Given the description of an element on the screen output the (x, y) to click on. 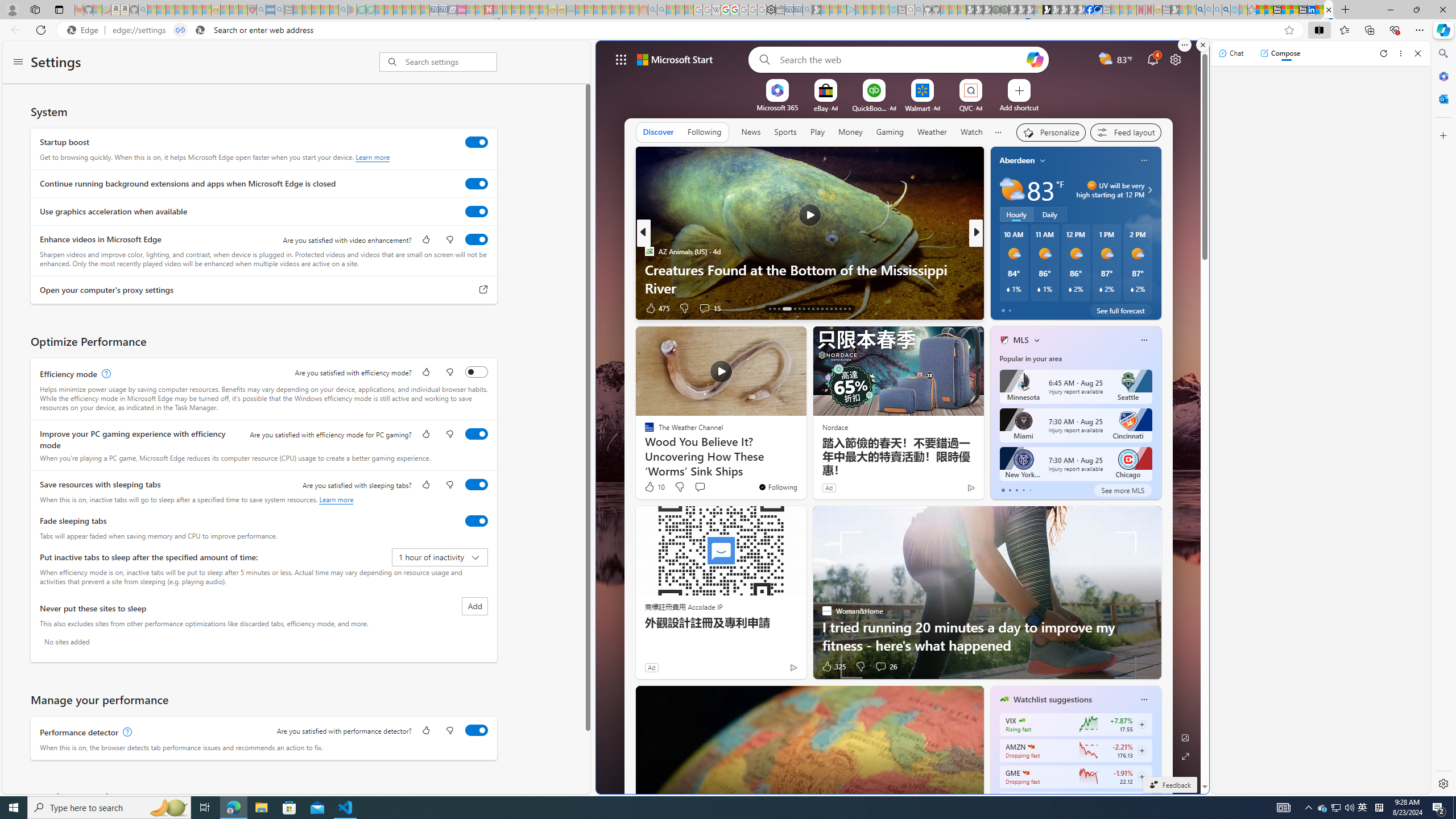
Local - MSN - Sleeping (242, 9)
CNBC (999, 250)
Search settings (451, 61)
View comments 14 Comment (1051, 307)
AutomationID: tab-17 (794, 308)
View comments 15 Comment (704, 307)
Show more topics (997, 132)
Class: weather-current-precipitation-glyph (1131, 289)
